Given the description of an element on the screen output the (x, y) to click on. 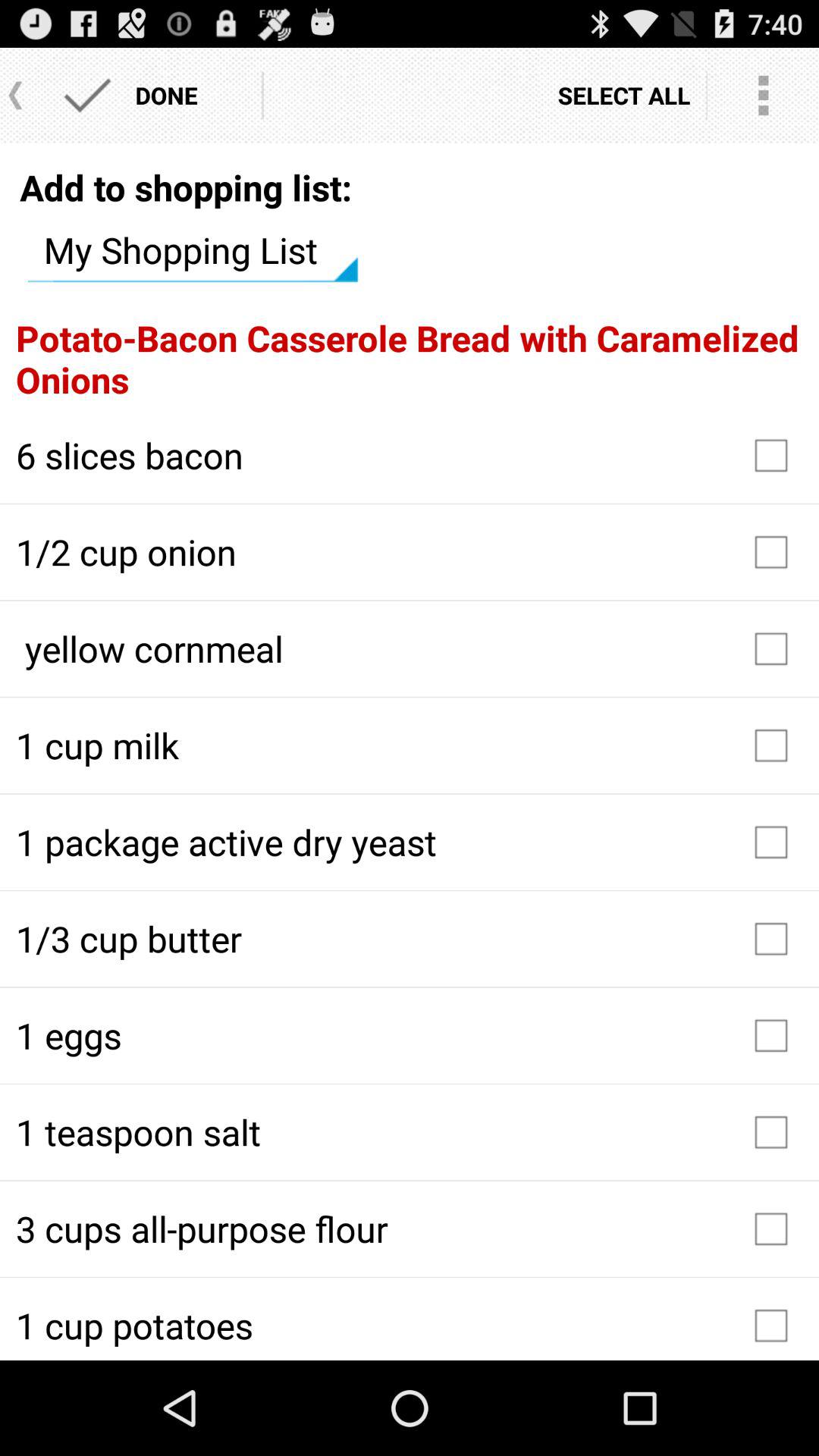
scroll to the  yellow cornmeal icon (409, 648)
